Given the description of an element on the screen output the (x, y) to click on. 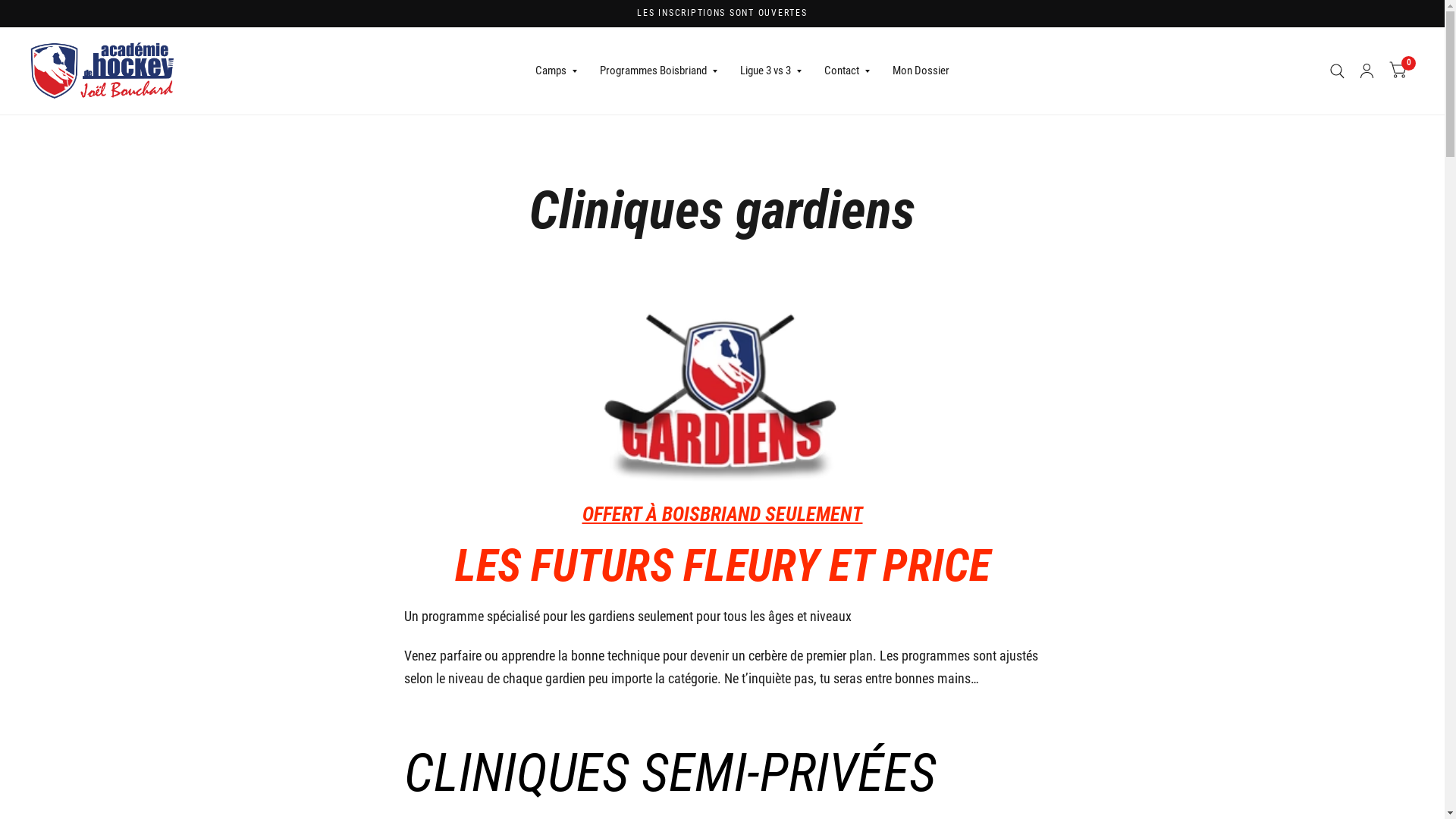
0 Element type: text (1397, 70)
Contact Element type: text (846, 70)
Mon compte Element type: hover (1366, 70)
Programmes Boisbriand Element type: text (658, 70)
Camps Element type: text (556, 70)
Ligue 3 vs 3 Element type: text (770, 70)
Mon Dossier Element type: text (920, 70)
Recherche Element type: hover (1337, 70)
